Given the description of an element on the screen output the (x, y) to click on. 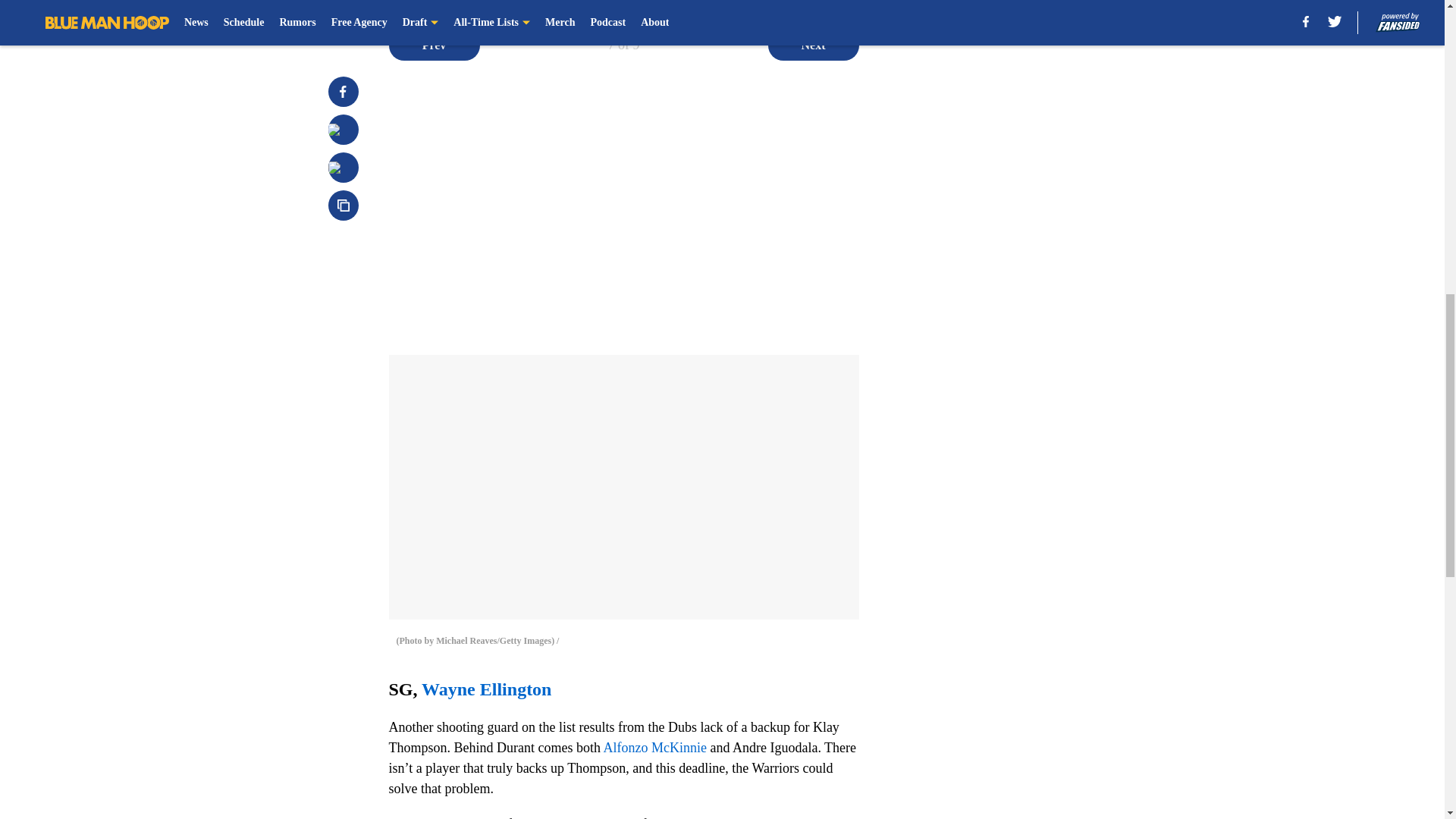
Wayne Ellington (486, 689)
Next (813, 45)
Alfonzo McKinnie (654, 747)
Prev (433, 45)
